Given the description of an element on the screen output the (x, y) to click on. 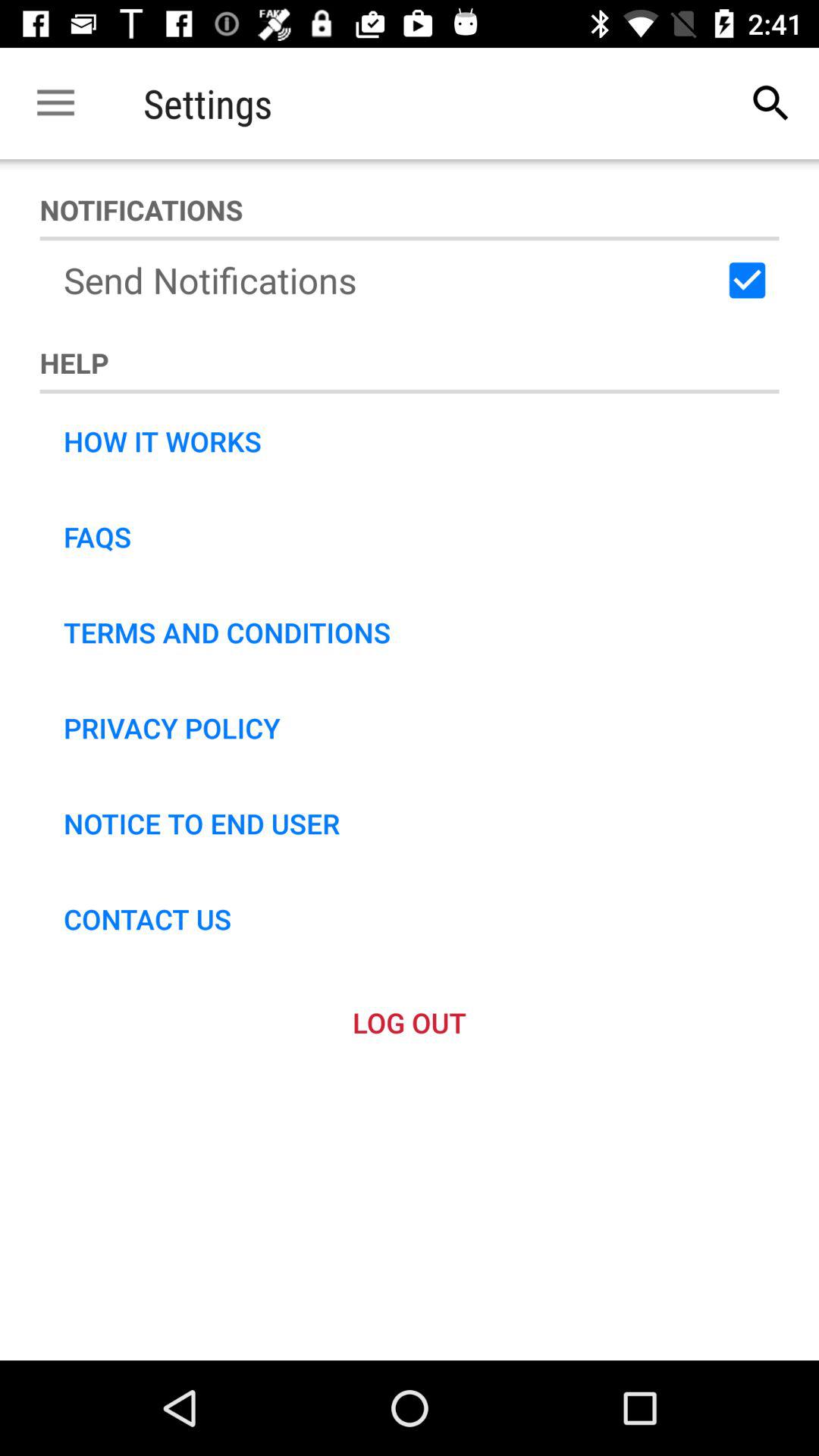
turn off item below the notice to end item (147, 918)
